Given the description of an element on the screen output the (x, y) to click on. 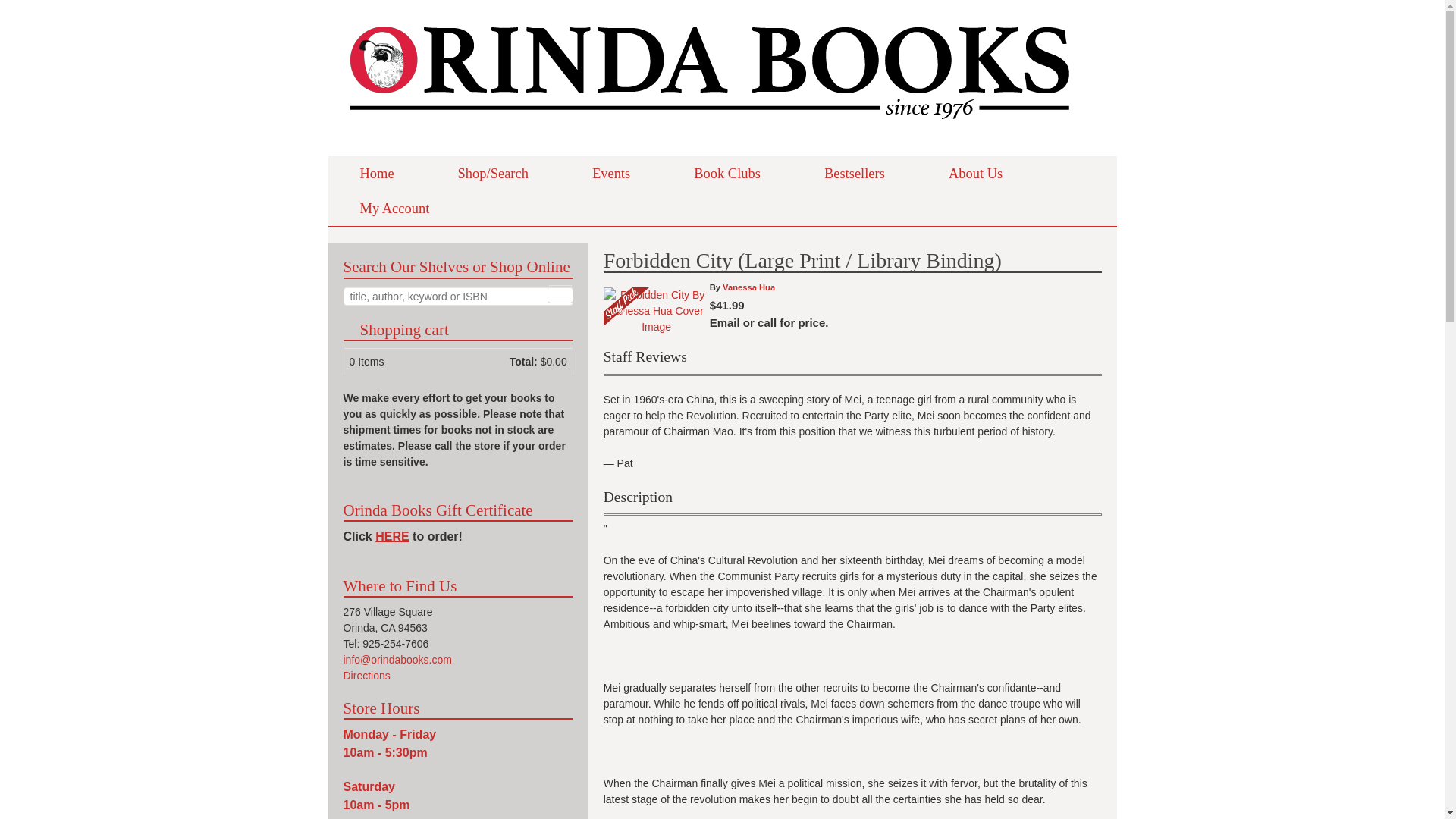
Book Clubs (727, 173)
HERE (392, 535)
Vanessa Hua (748, 286)
Home (376, 173)
My Account (394, 208)
Search (560, 294)
Search (560, 294)
Events (611, 173)
About Us (975, 173)
View your shopping cart. (348, 328)
Directions (366, 675)
Home page (709, 132)
Bestsellers (854, 173)
Enter the terms you wish to search for. (457, 296)
